Given the description of an element on the screen output the (x, y) to click on. 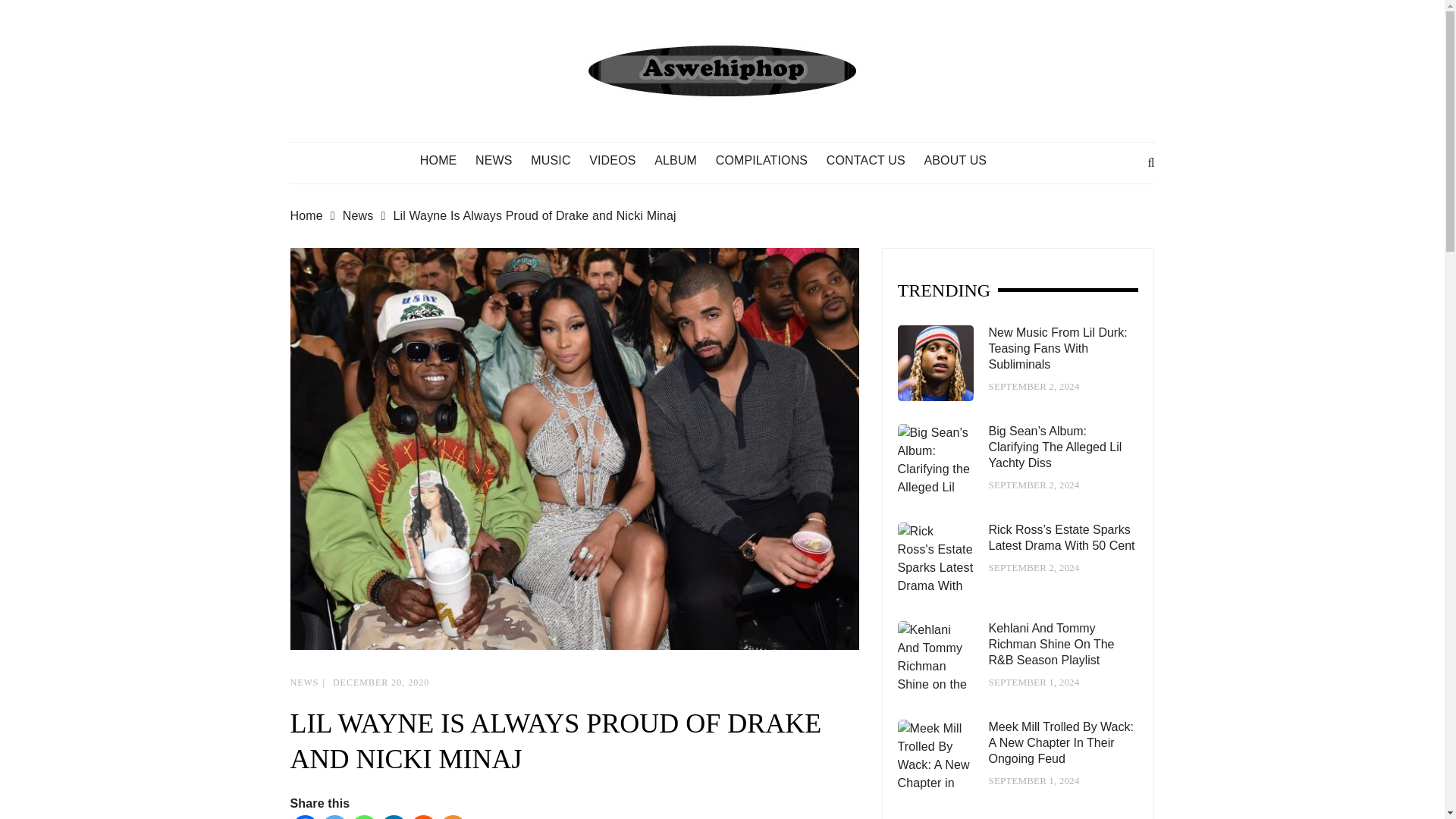
More (452, 816)
Whatsapp (363, 816)
Linkedin (393, 816)
ABOUT US (962, 160)
HOME (445, 160)
Reddit (422, 816)
NEWS (501, 160)
COMPILATIONS (770, 160)
Facebook (304, 816)
CONTACT US (873, 160)
